Given the description of an element on the screen output the (x, y) to click on. 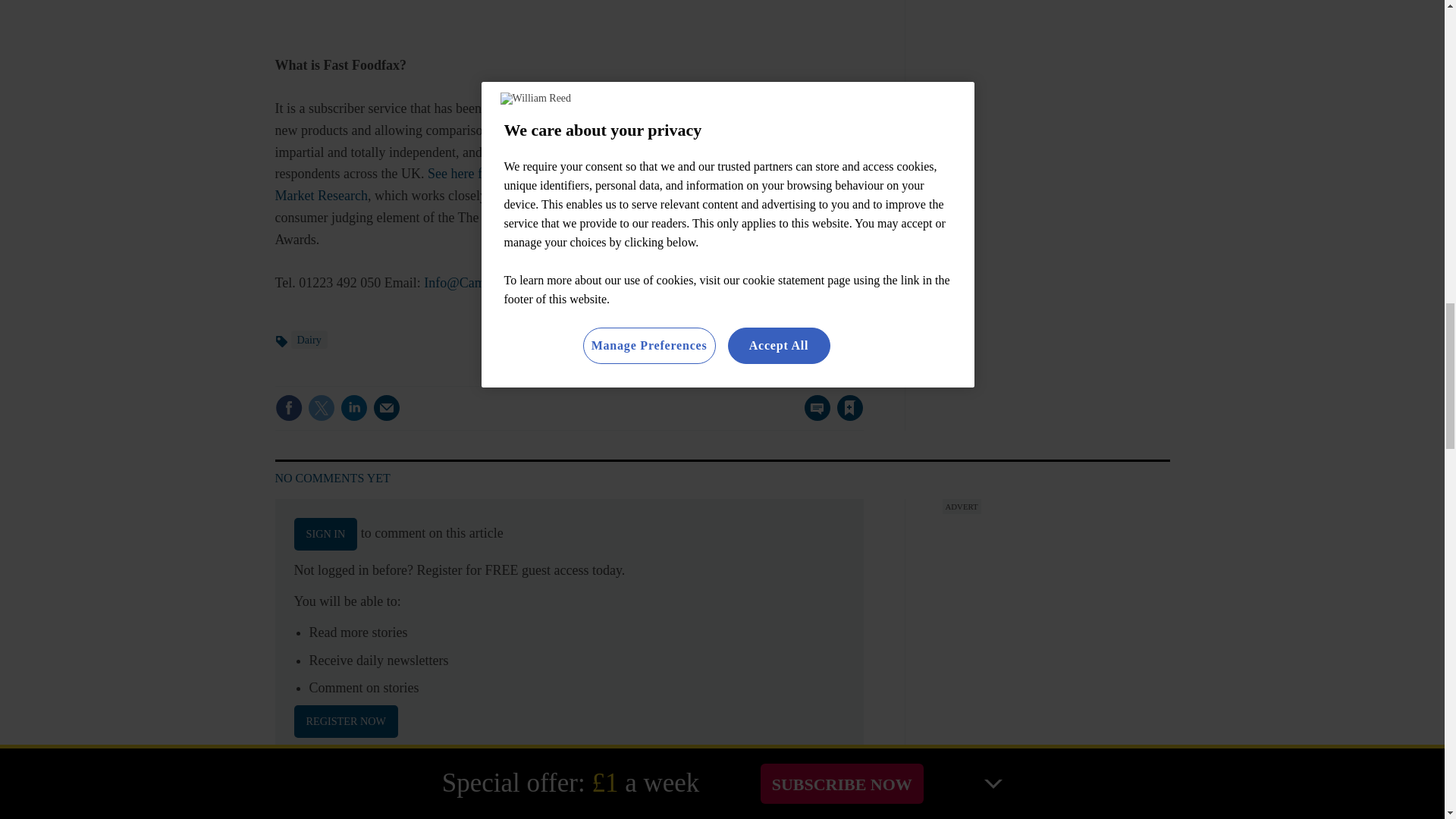
Share this on Facebook (288, 407)
Share this on Twitter (320, 407)
No comments (812, 417)
Share this on Linked in (352, 407)
Email this article (386, 407)
